Given the description of an element on the screen output the (x, y) to click on. 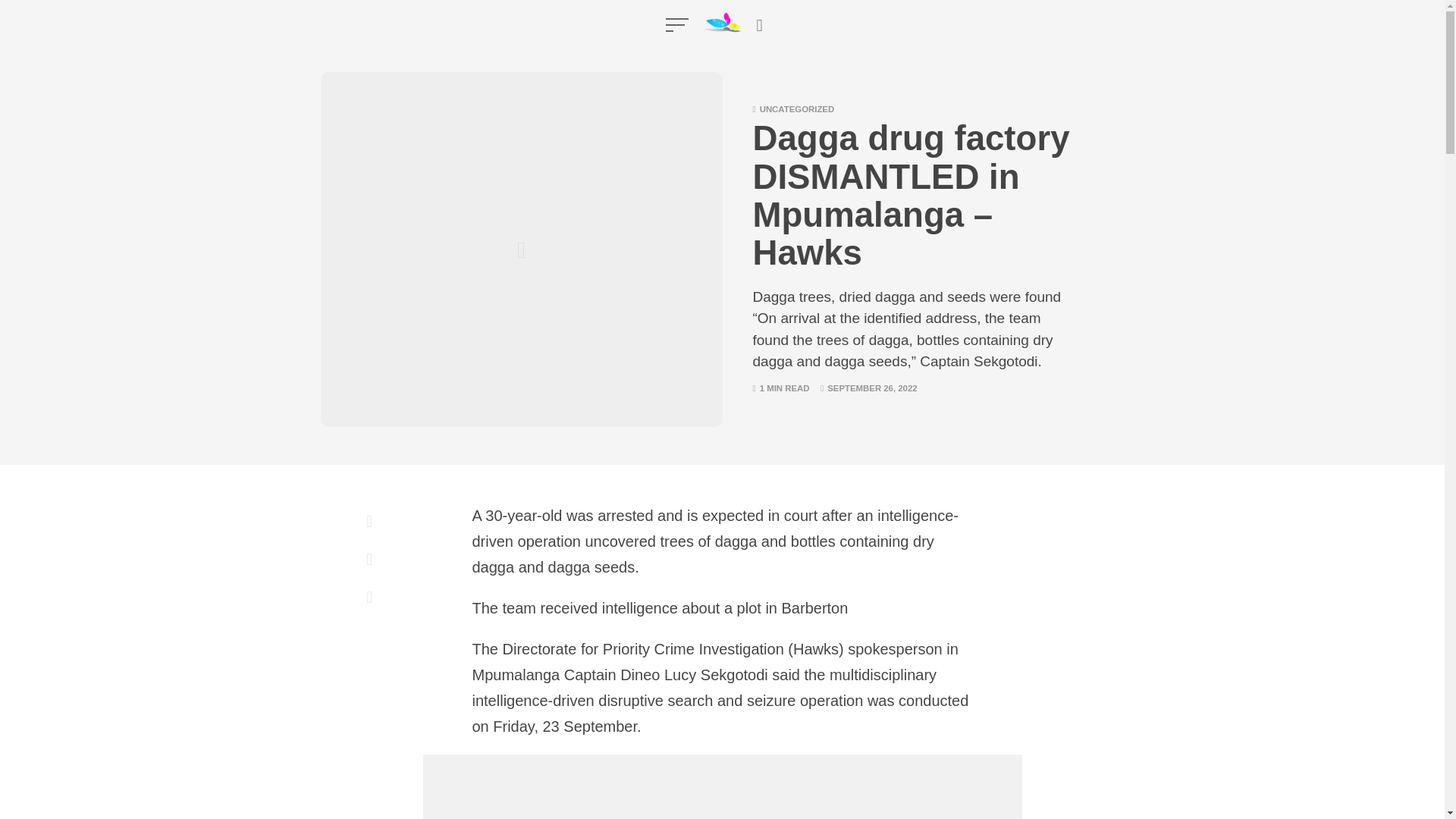
UNCATEGORIZED (797, 108)
